Given the description of an element on the screen output the (x, y) to click on. 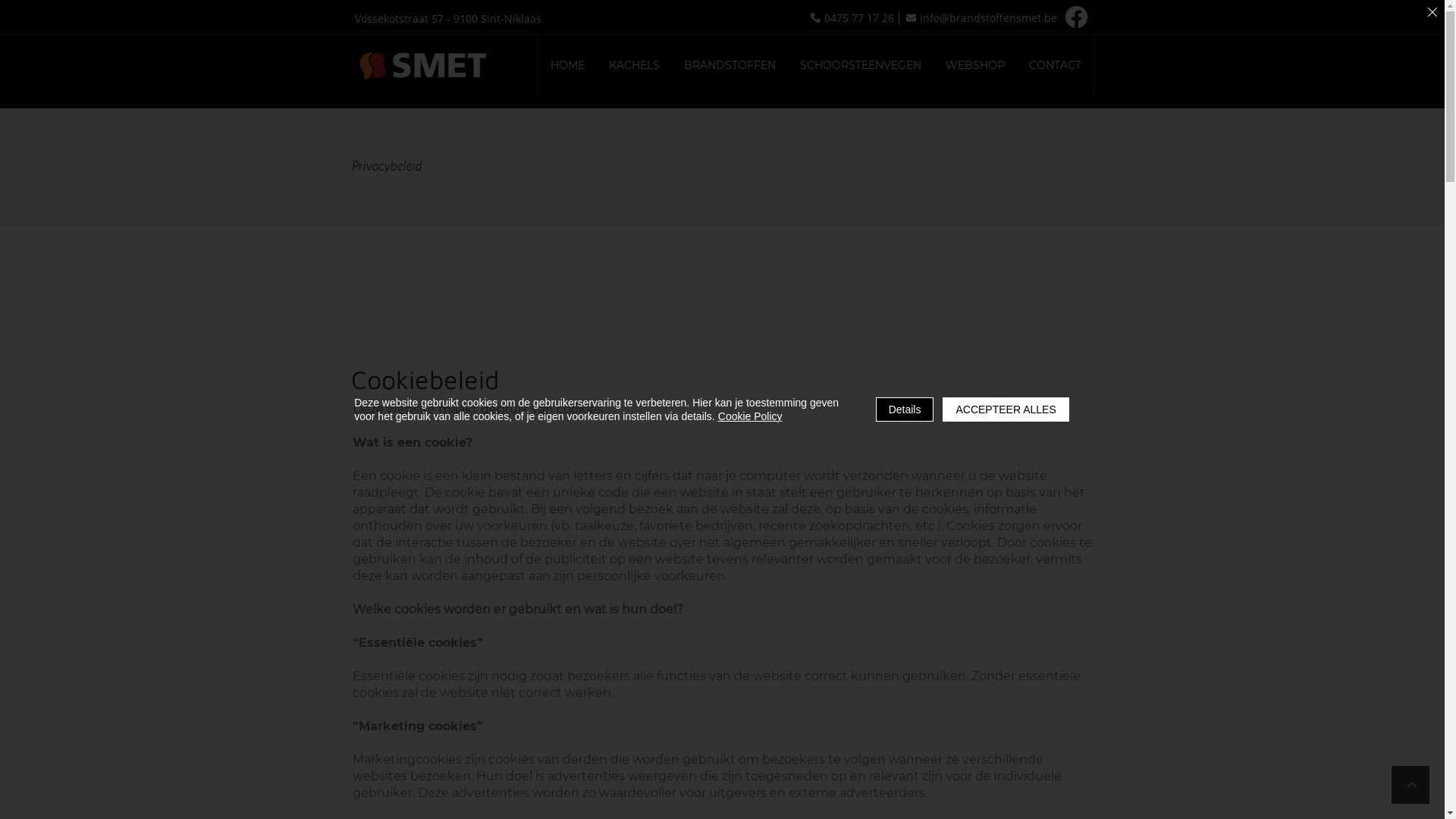
info@brandstoffensmet.be Element type: text (981, 17)
SCHOORSTEENVEGEN Element type: text (860, 64)
BRANDSTOFFEN Element type: text (729, 64)
WEBSHOP Element type: text (974, 64)
ACCEPTEER ALLES Element type: text (1005, 409)
0475 77 17 26 Element type: text (853, 17)
HOME Element type: text (567, 64)
KACHELS Element type: text (633, 64)
CONTACT Element type: text (1054, 64)
Details Element type: text (904, 409)
Cookie Policy Element type: text (750, 416)
